Given the description of an element on the screen output the (x, y) to click on. 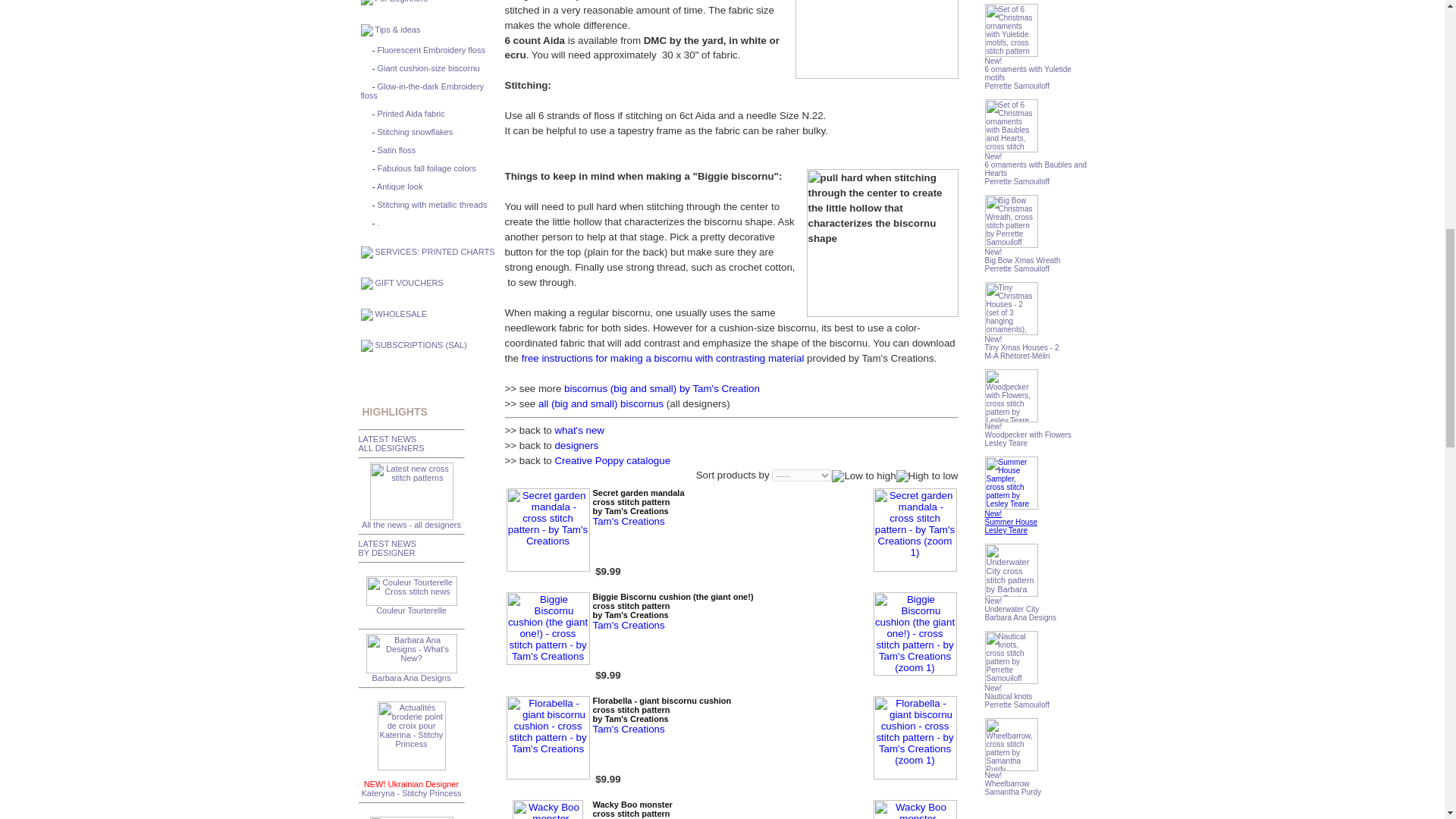
Satin floss (396, 149)
Samantha Purdy Cross stitch - what's new? (410, 817)
Barbara Ana Designs - What's New? (411, 653)
Glow-in-the-dark Embroidery floss (422, 90)
Fluorescent Embroidery floss (430, 49)
Printed Aida fabric (411, 112)
For Beginners (401, 1)
Stitching snowflakes (414, 131)
Giant cushion-size biscornu (428, 67)
Antique look (400, 185)
Fabulous fall foilage colors (426, 167)
